Given the description of an element on the screen output the (x, y) to click on. 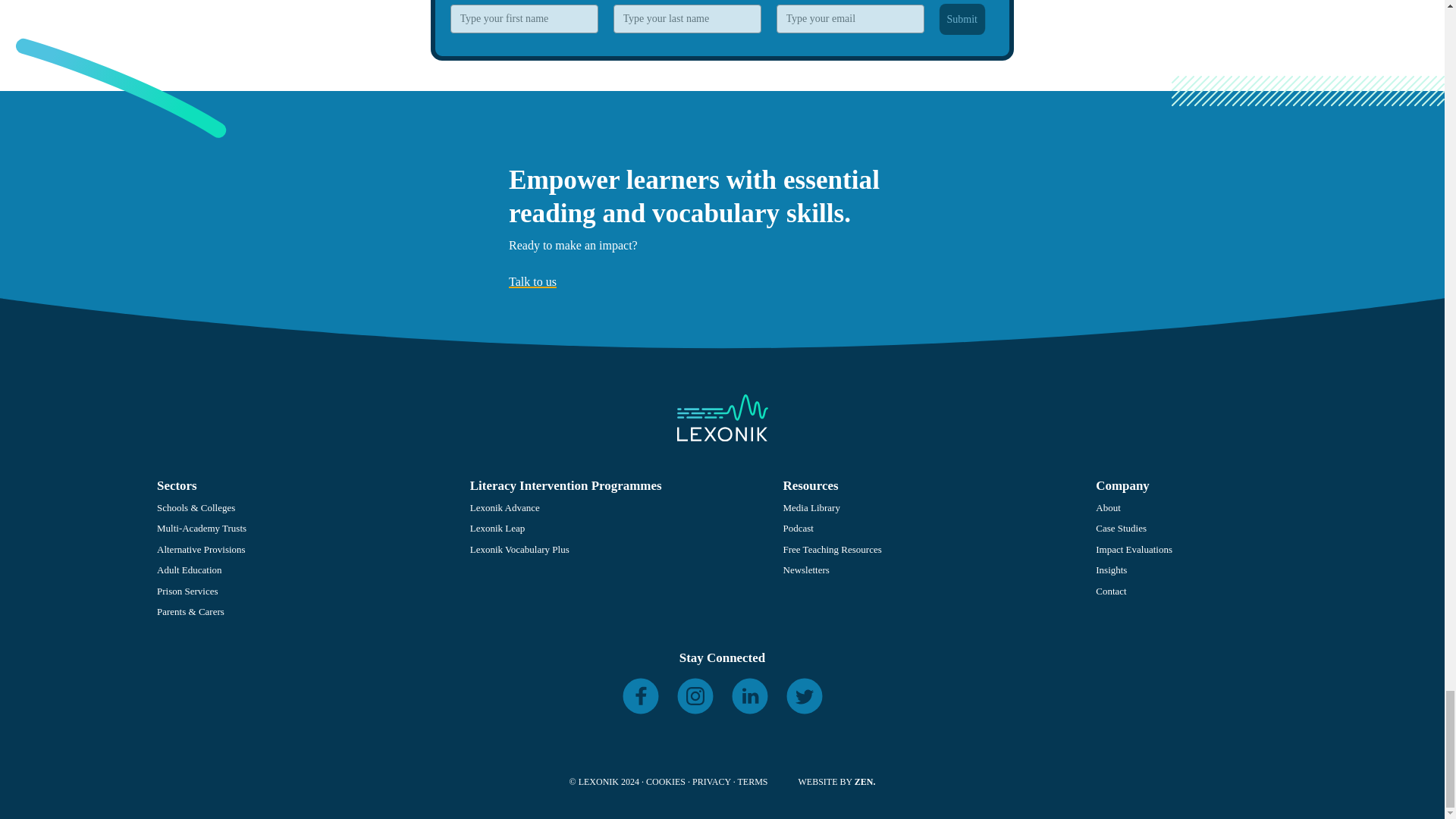
Sectors (176, 485)
Lexonik Leap (497, 527)
Literacy Intervention Programmes (566, 485)
Prison Services (187, 591)
Alternative Provisions (201, 549)
Lexonik Advance (505, 507)
Talk to us (532, 281)
Submit (962, 19)
Lexonik Vocabulary Plus (519, 549)
Media Library (811, 507)
